Given the description of an element on the screen output the (x, y) to click on. 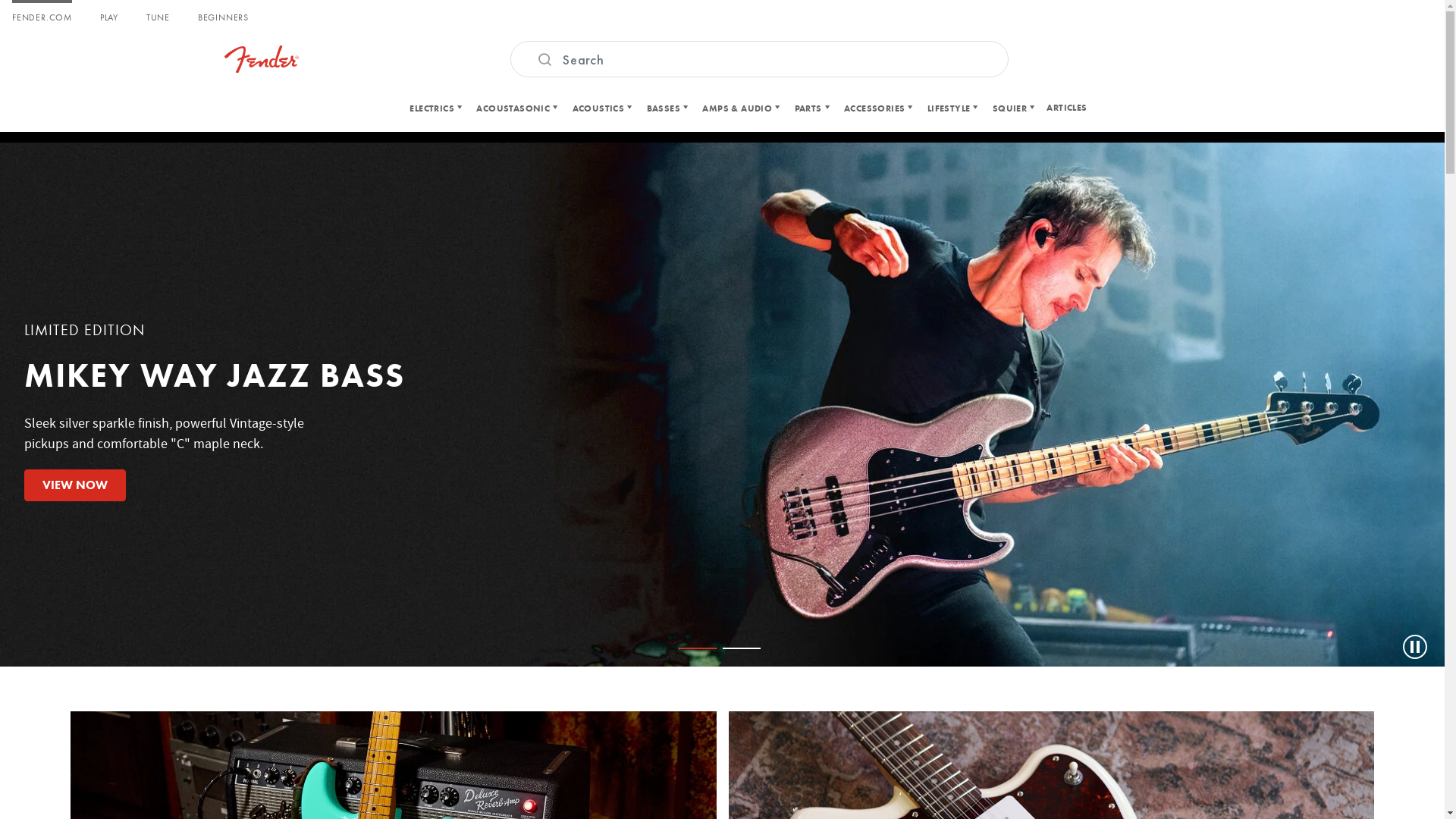
FENDER.COM Element type: text (42, 17)
AMPS & AUDIO Element type: text (740, 107)
BASSES Element type: text (667, 107)
Fender Home Element type: hover (261, 58)
ACOUSTASONIC Element type: text (516, 107)
VIEW NOW Element type: text (74, 485)
2 Element type: text (740, 648)
PLAY Element type: text (109, 17)
LIFESTYLE Element type: text (952, 107)
ACOUSTICS Element type: text (602, 107)
1 Element type: text (696, 648)
ARTICLES Element type: text (1066, 106)
ACCESSORIES Element type: text (878, 107)
PARTS Element type: text (811, 107)
SQUIER Element type: text (1013, 107)
ELECTRICS Element type: text (435, 107)
TUNE Element type: text (157, 17)
BEGINNERS Element type: text (222, 17)
